Given the description of an element on the screen output the (x, y) to click on. 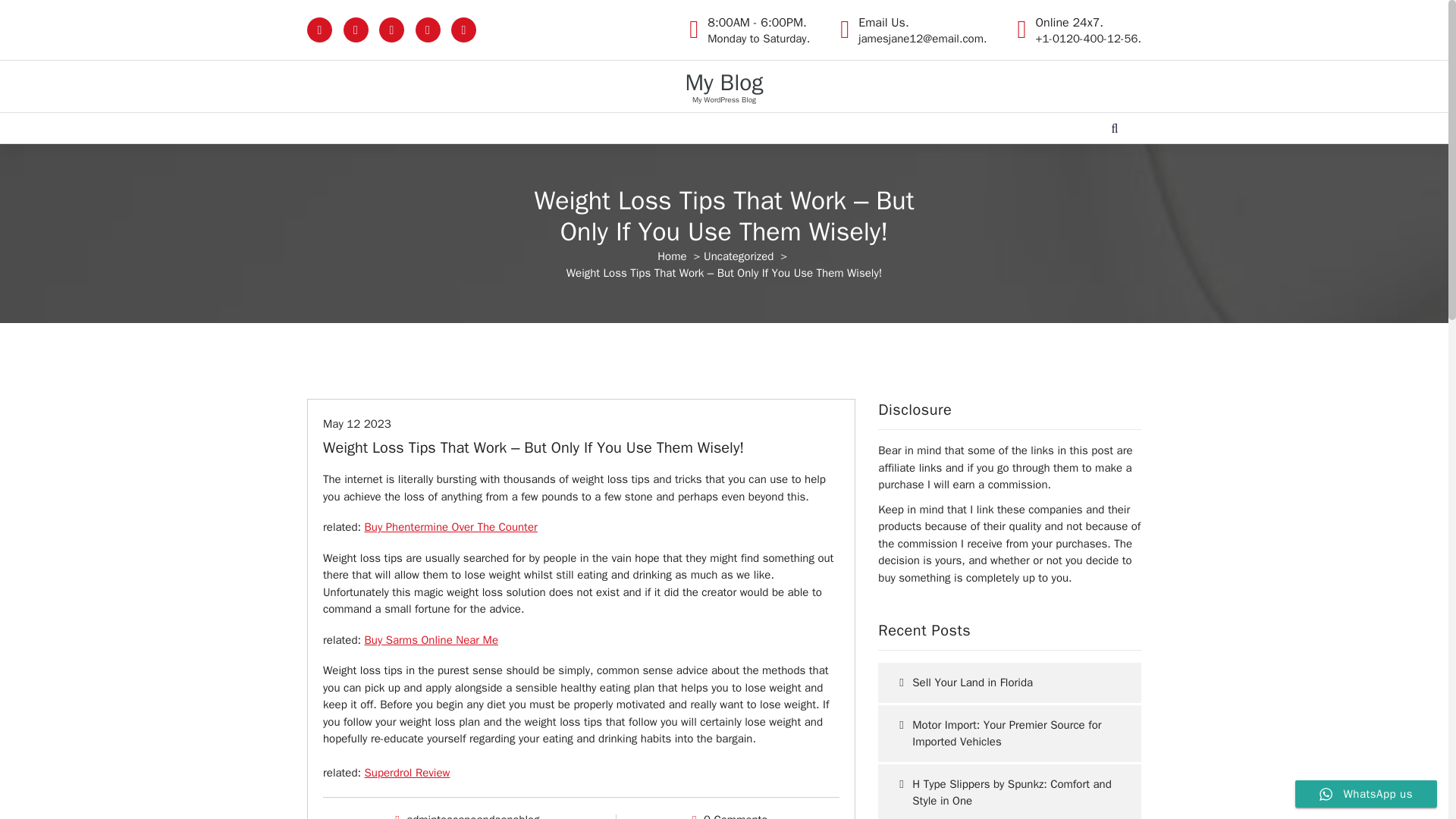
Motor Import: Your Premier Source for Imported Vehicles (1009, 733)
H Type Slippers by Spunkz: Comfort and Style in One (1009, 791)
Buy Phentermine Over The Counter (451, 526)
Home (671, 255)
Sell Your Land in Florida (1009, 682)
0 Comments (735, 816)
Uncategorized (758, 30)
May 12 2023 (738, 255)
admintoscanoandsonsblog (357, 423)
My Blog (473, 816)
Superdrol Review (723, 82)
Buy Sarms Online Near Me (407, 772)
